Given the description of an element on the screen output the (x, y) to click on. 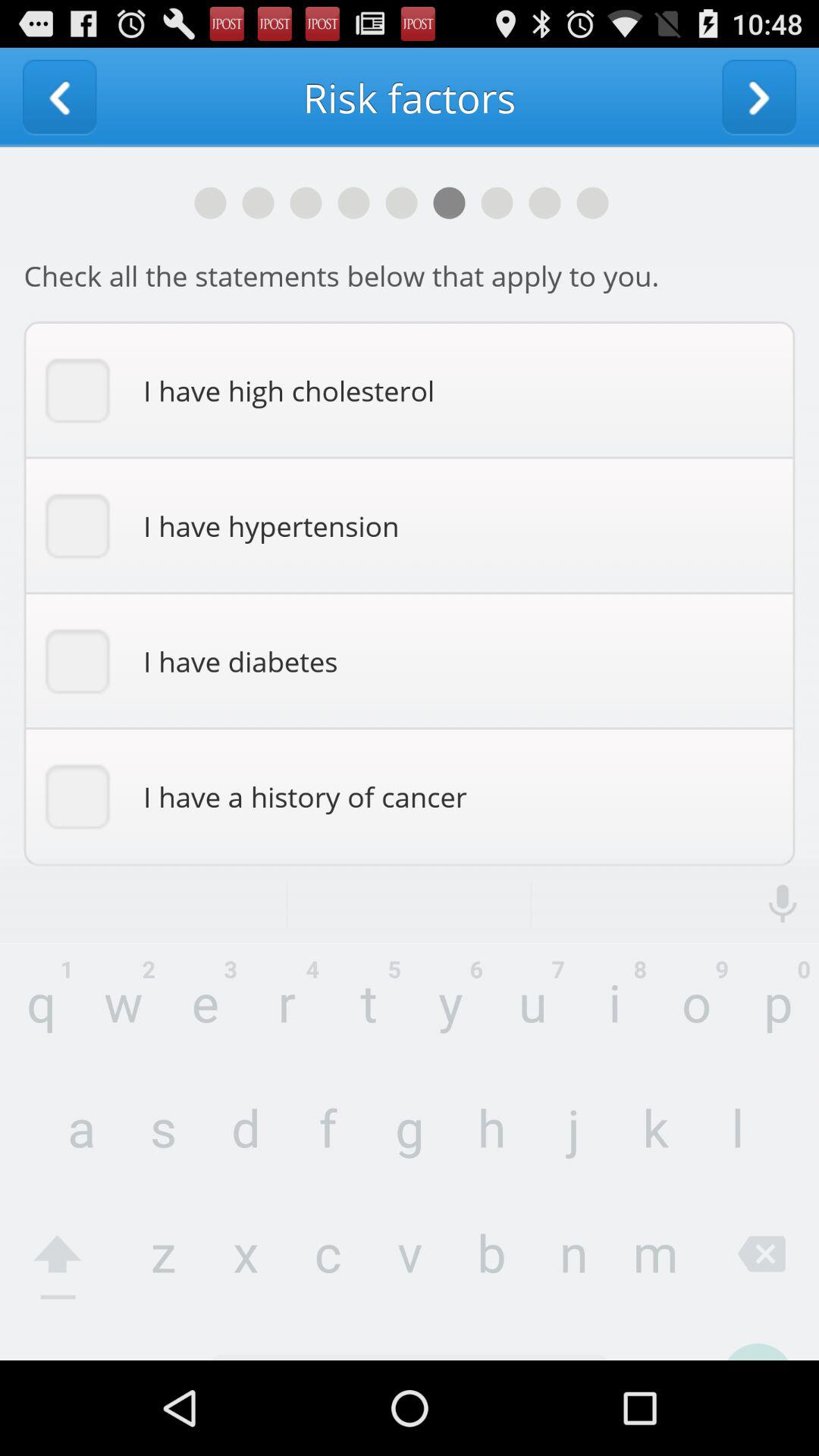
go forward (759, 97)
